Given the description of an element on the screen output the (x, y) to click on. 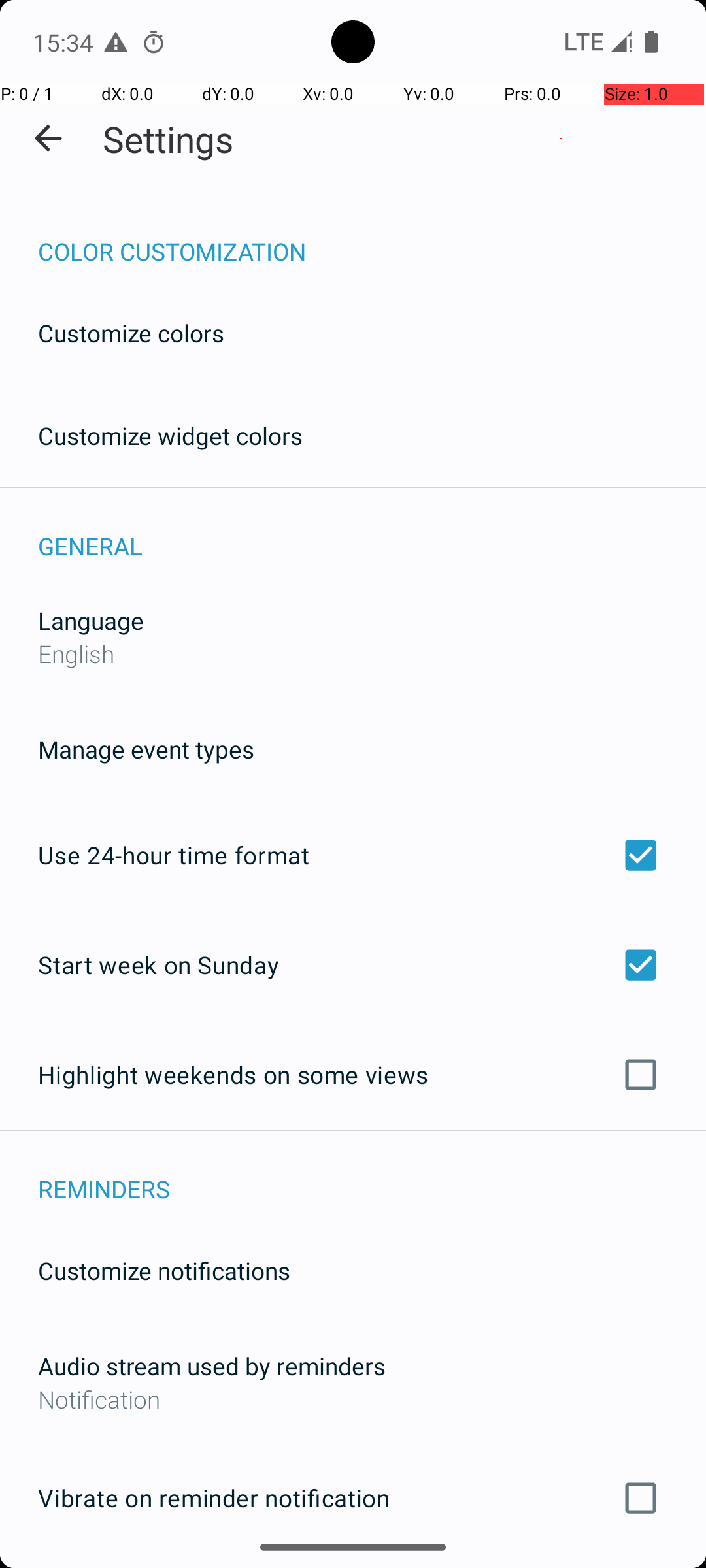
COLOR CUSTOMIZATION Element type: android.widget.TextView (371, 237)
GENERAL Element type: android.widget.TextView (371, 532)
REMINDERS Element type: android.widget.TextView (371, 1174)
Customize colors Element type: android.widget.TextView (130, 332)
Customize widget colors Element type: android.widget.TextView (170, 435)
Language Element type: android.widget.TextView (90, 620)
English Element type: android.widget.TextView (75, 653)
Manage event types Element type: android.widget.TextView (145, 748)
Use 24-hour time format Element type: android.widget.CheckBox (352, 855)
Start week on Sunday Element type: android.widget.CheckBox (352, 964)
Highlight weekends on some views Element type: android.widget.CheckBox (352, 1074)
Customize notifications Element type: android.widget.TextView (163, 1270)
Audio stream used by reminders Element type: android.widget.TextView (211, 1365)
Notification Element type: android.widget.TextView (352, 1398)
Vibrate on reminder notification Element type: android.widget.CheckBox (352, 1497)
Loop reminders until dismissed Element type: android.widget.CheckBox (352, 1567)
